Given the description of an element on the screen output the (x, y) to click on. 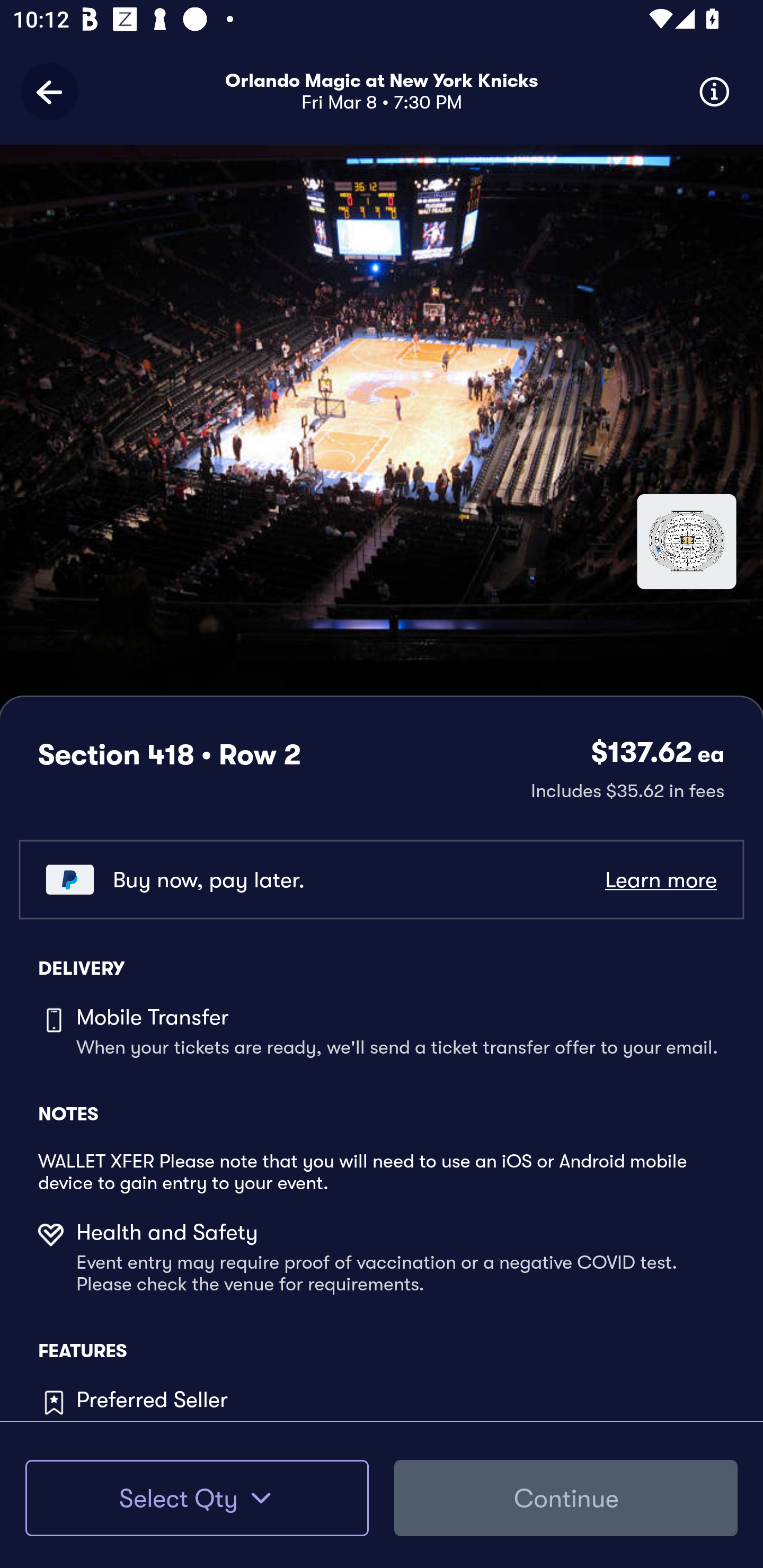
Learn more (660, 880)
Select Qty (196, 1497)
Continue (565, 1497)
